Given the description of an element on the screen output the (x, y) to click on. 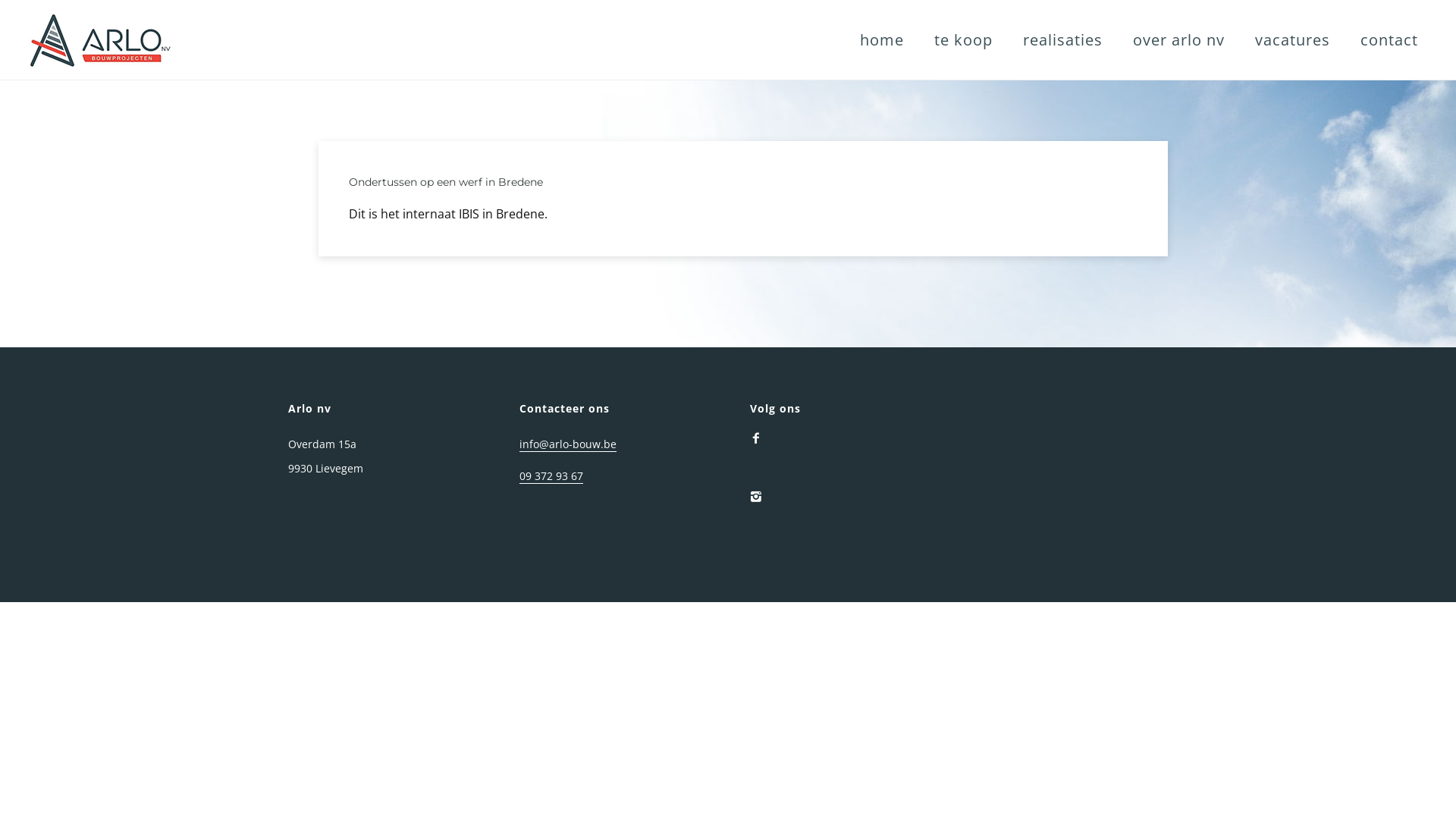
realisaties Element type: text (1062, 39)
Ondertussen op een werf in Bredene Element type: text (445, 181)
contact Element type: text (1389, 39)
09 372 93 67 Element type: text (550, 475)
home Element type: text (881, 39)
vacatures Element type: text (1292, 39)
over arlo nv Element type: text (1178, 39)
info@arlo-bouw.be Element type: text (566, 443)
te koop Element type: text (963, 39)
